Given the description of an element on the screen output the (x, y) to click on. 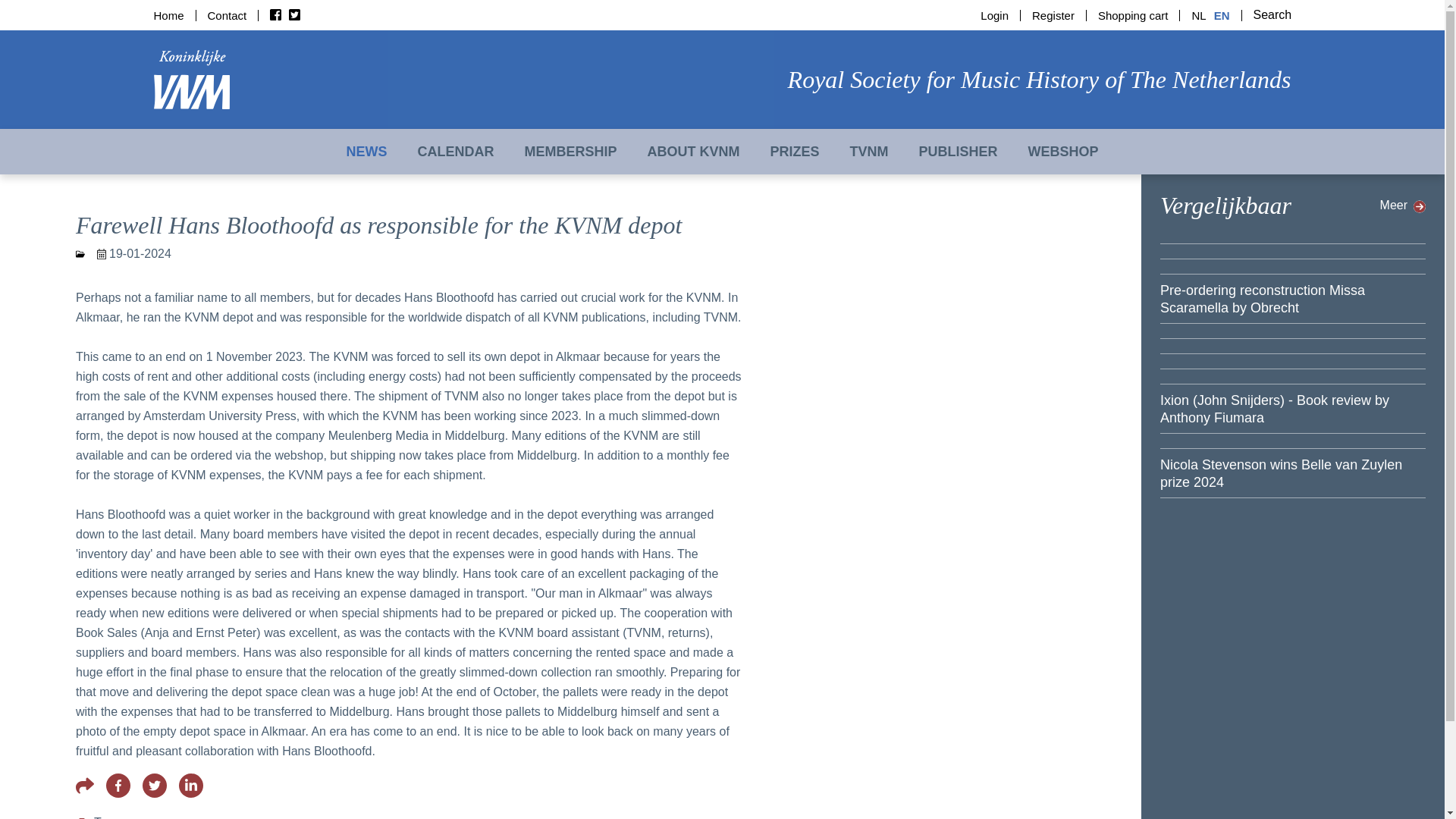
MEMBERSHIP (569, 151)
CALENDAR (454, 151)
Register (1053, 15)
ABOUT KVNM (692, 151)
NEWS (365, 151)
Login (999, 15)
PRIZES (794, 151)
Shopping cart (1132, 15)
Contact (227, 15)
NL (1194, 15)
